Given the description of an element on the screen output the (x, y) to click on. 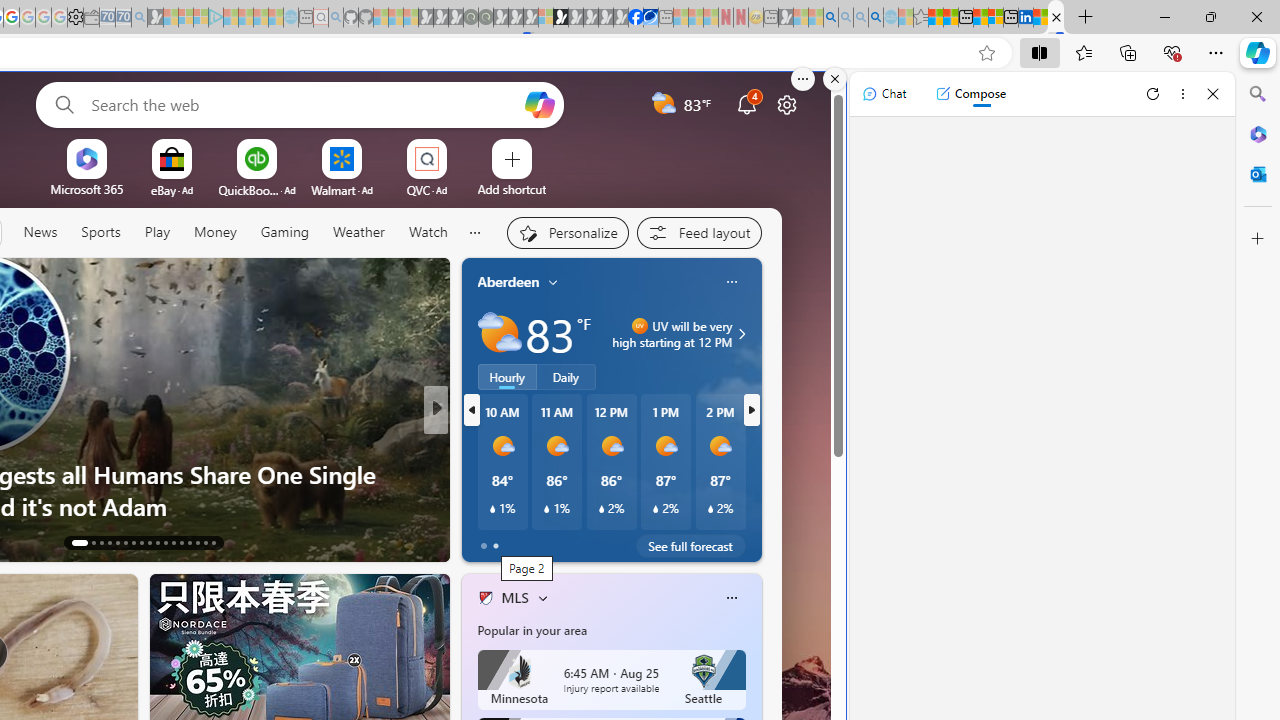
Google Chrome Internet Browser Download - Search Images (876, 17)
EatingWell (477, 442)
Money (214, 232)
tab-1 (494, 545)
More interests (542, 597)
152 Like (490, 541)
Bing AI - Search (831, 17)
View comments 543 Comment (567, 541)
